Given the description of an element on the screen output the (x, y) to click on. 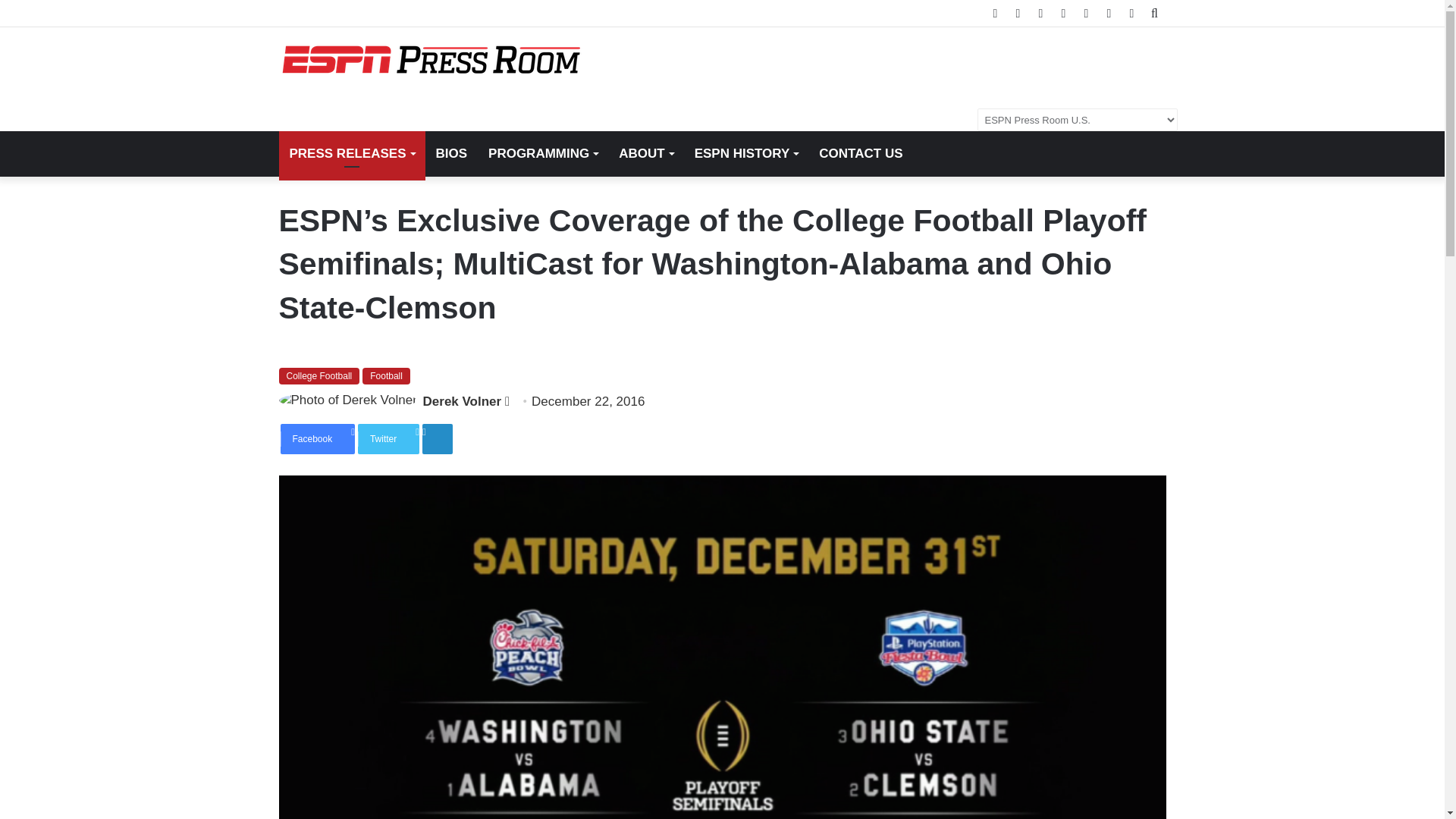
Derek Volner (462, 400)
Derek Volner (462, 400)
Twitter (388, 439)
PRESS RELEASES (352, 153)
PROGRAMMING (542, 153)
LinkedIn (437, 439)
Football (386, 375)
ESPN Press Room U.S. (430, 59)
College Football (319, 375)
Facebook (318, 439)
